Given the description of an element on the screen output the (x, y) to click on. 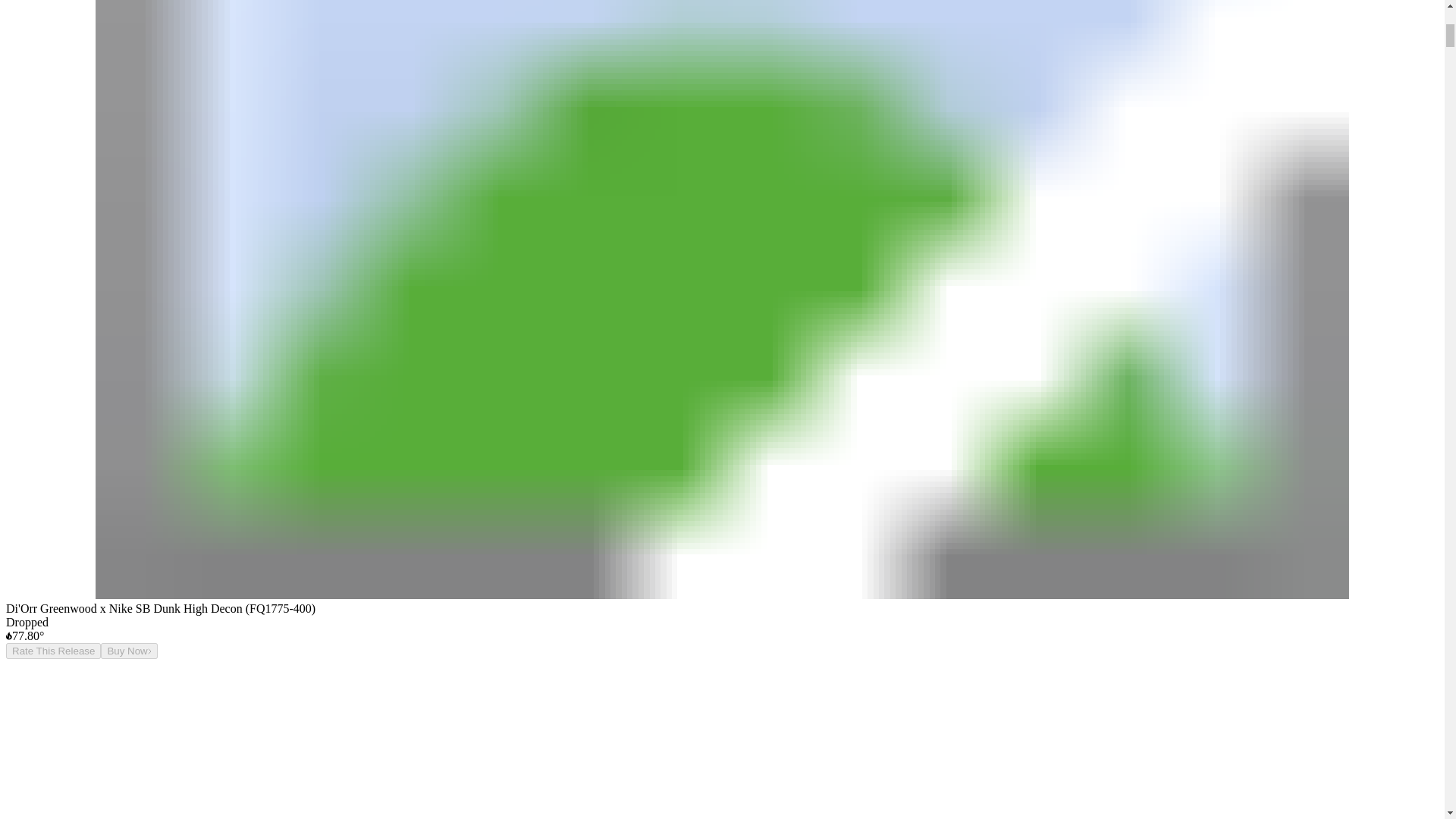
Rate This Release (52, 650)
Buy Now (128, 650)
